Given the description of an element on the screen output the (x, y) to click on. 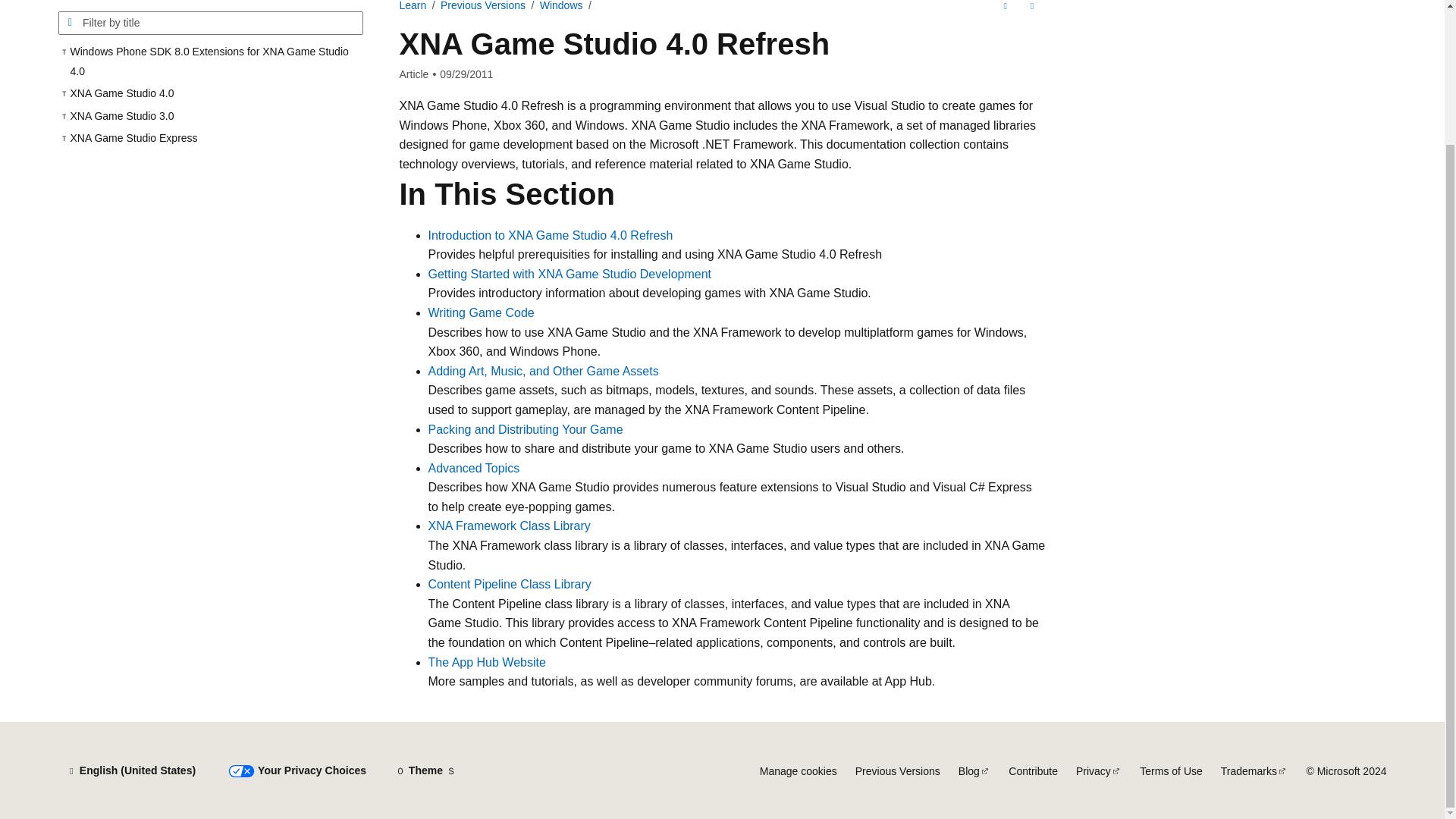
Windows (561, 5)
Previous Versions (483, 5)
Learn (412, 5)
Theme (425, 770)
More actions (1031, 9)
